Given the description of an element on the screen output the (x, y) to click on. 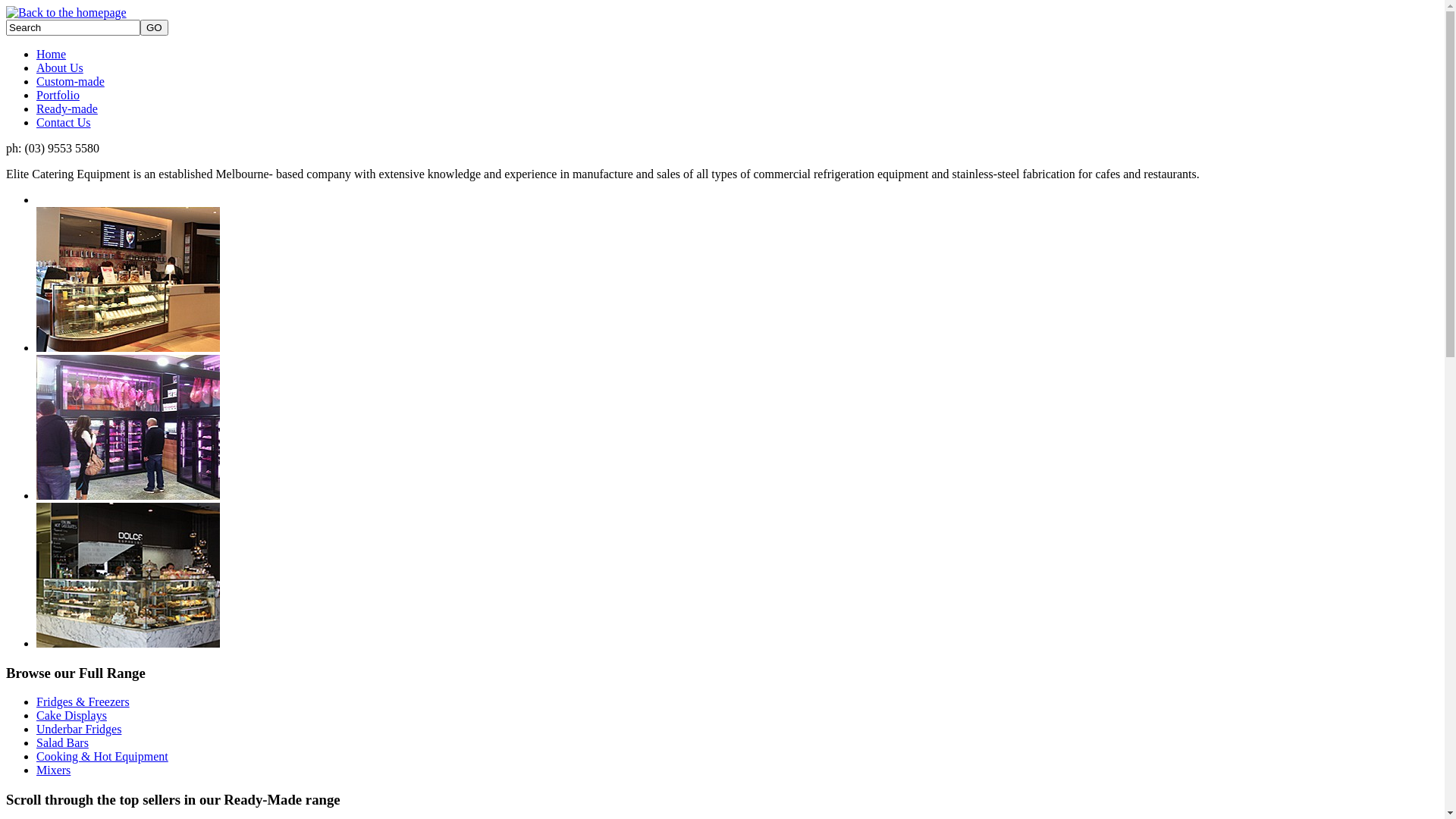
Portfolio Element type: text (57, 94)
Underbar Fridges Element type: text (78, 728)
Custom-made Element type: text (70, 81)
Fridges & Freezers Element type: text (82, 701)
Salad Bars Element type: text (62, 742)
Mixers Element type: text (53, 769)
Cake Displays Element type: text (71, 715)
Cooking & Hot Equipment Element type: text (102, 755)
Ready-made Element type: text (66, 108)
Home Element type: text (50, 53)
GO Element type: text (154, 27)
About Us Element type: text (59, 67)
Contact Us Element type: text (63, 122)
